Given the description of an element on the screen output the (x, y) to click on. 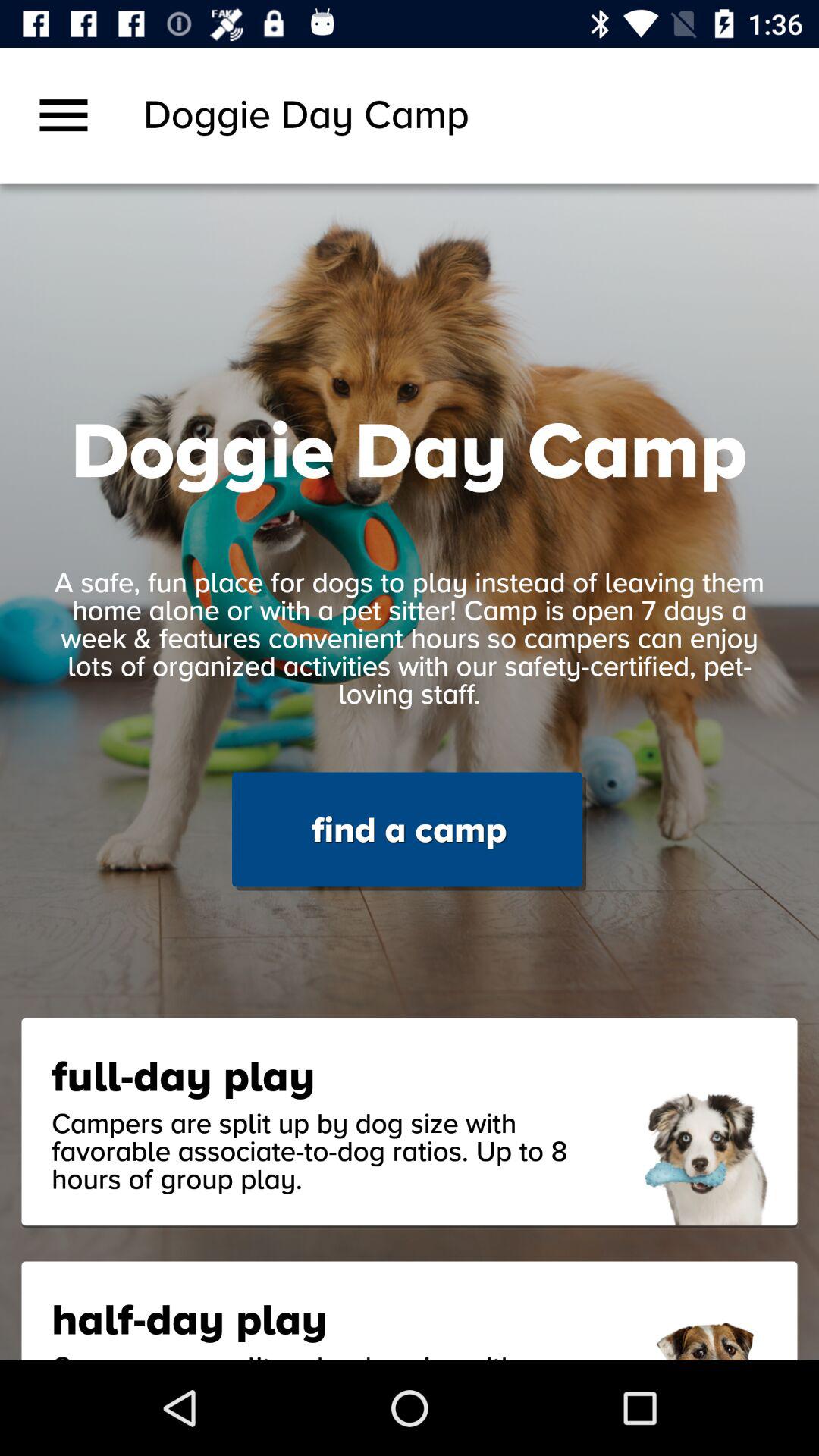
choose icon next to the doggie day camp (63, 115)
